Given the description of an element on the screen output the (x, y) to click on. 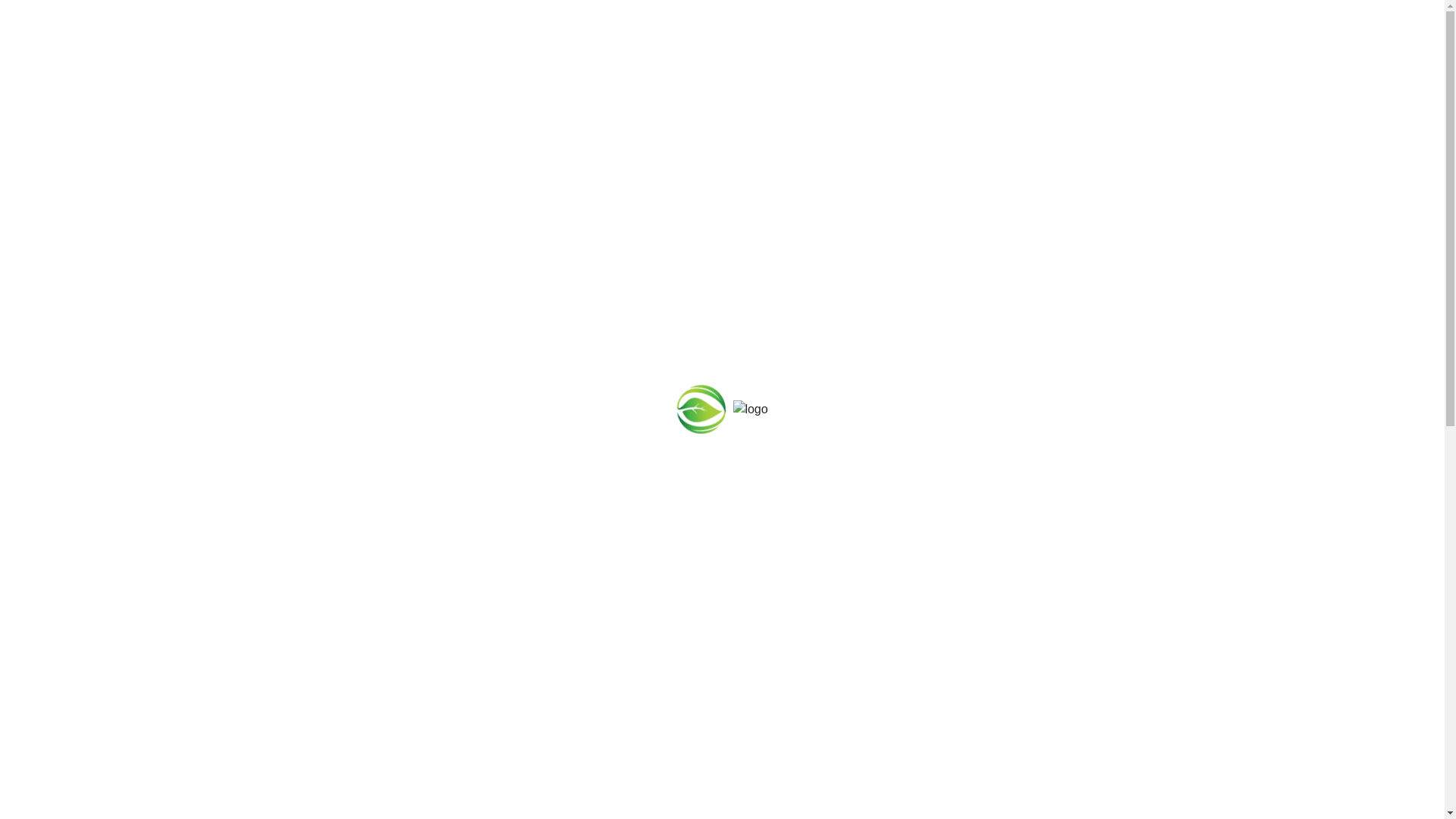
EN Element type: text (1115, 147)
EN Element type: text (27, 417)
BE Element type: text (7, 417)
BE Element type: text (1092, 147)
RU Element type: text (1139, 147)
RU Element type: text (47, 417)
